Given the description of an element on the screen output the (x, y) to click on. 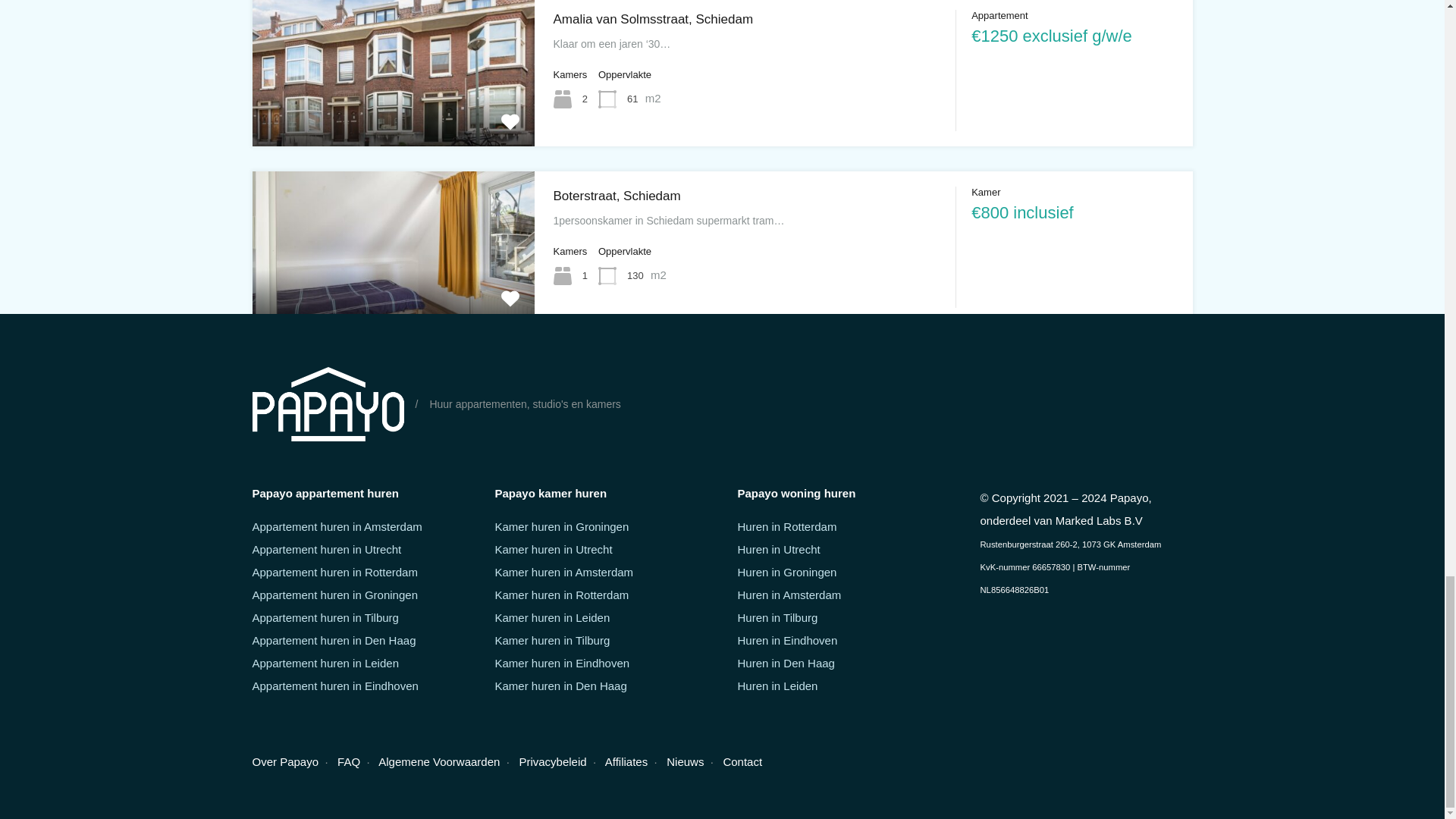
Kamer huren in Utrecht (553, 549)
Appartement huren in Amsterdam (336, 526)
Papayo (327, 403)
Appartement huren in Eindhoven (334, 685)
Kamer huren in Groningen (561, 526)
Appartement huren in Utrecht (326, 549)
Appartement huren in Den Haag (332, 640)
Appartement huren in Rotterdam (333, 571)
Appartement huren in Leiden (324, 662)
Kamer huren in Rotterdam (561, 594)
